Given the description of an element on the screen output the (x, y) to click on. 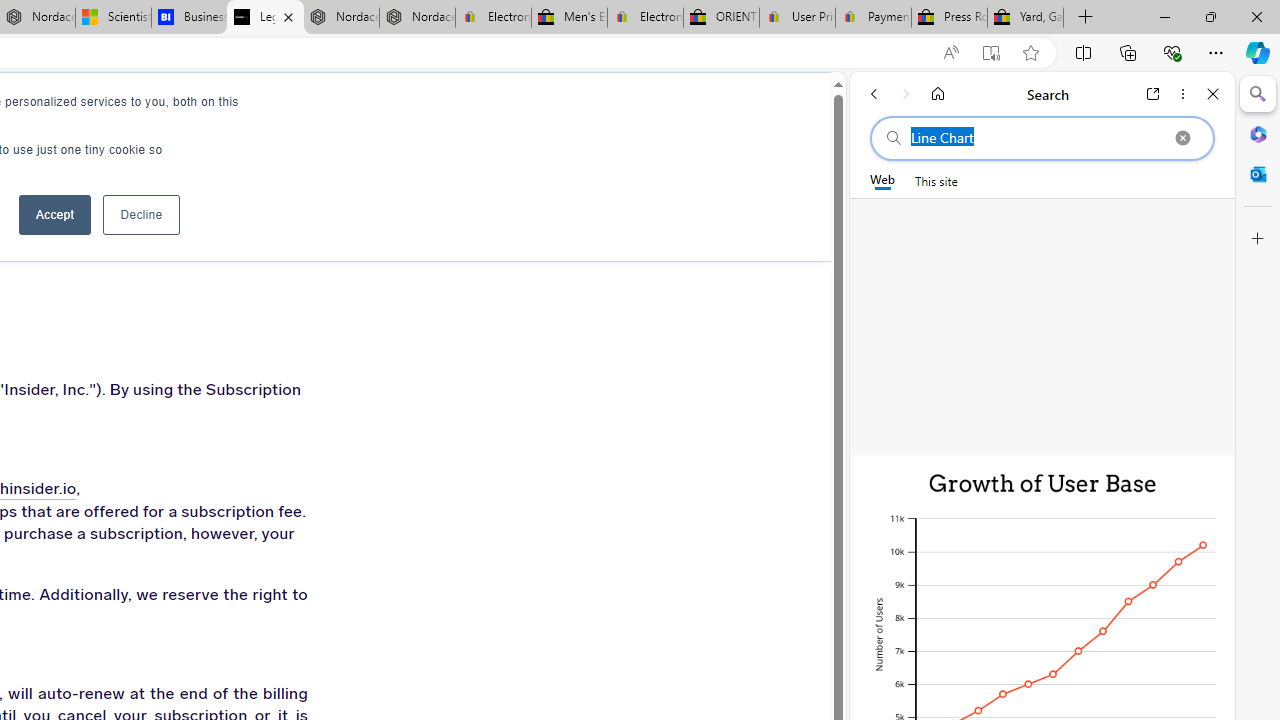
CONTACT US (377, 110)
CAREERS (180, 110)
Decline (141, 214)
Minimize Search pane (1258, 94)
